Given the description of an element on the screen output the (x, y) to click on. 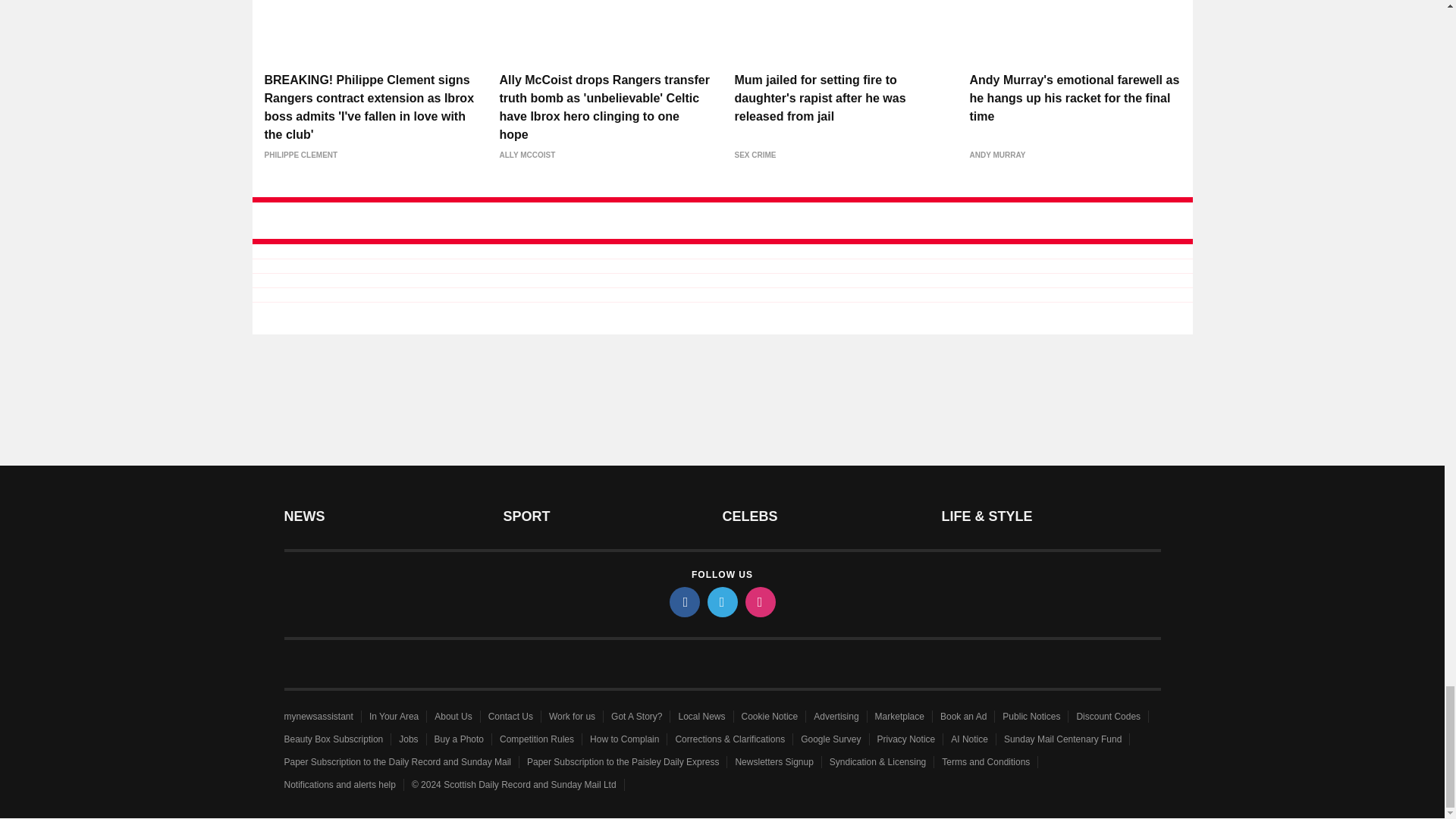
twitter (721, 603)
facebook (683, 603)
instagram (759, 603)
